Given the description of an element on the screen output the (x, y) to click on. 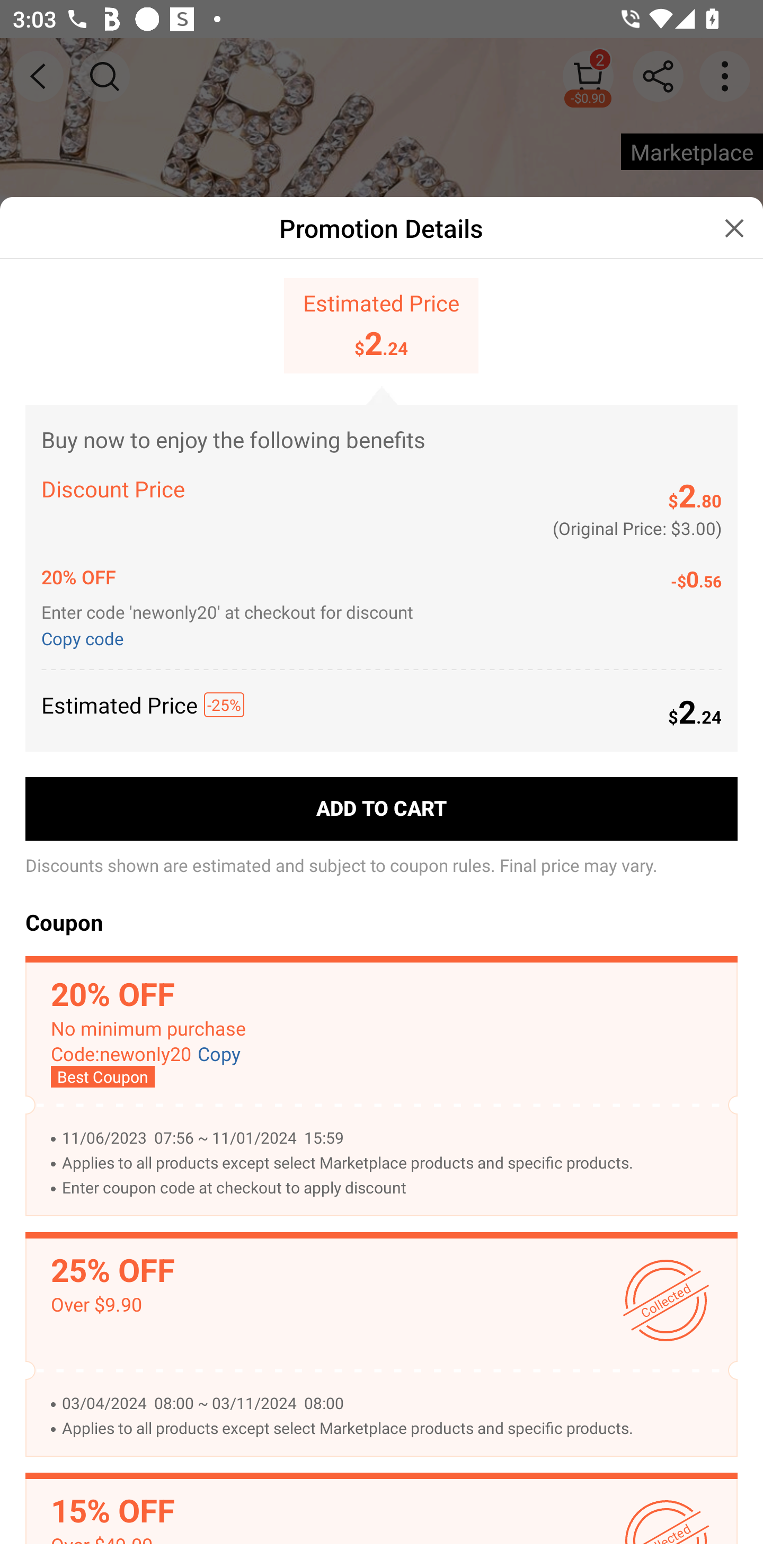
Close (734, 227)
Copy code (85, 637)
ADD TO CART (381, 808)
Copy (219, 1054)
11/06/2023  07:56 ~ 11/01/2024  15:59 (389, 1137)
Enter coupon code at checkout to apply discount (389, 1188)
03/04/2024  08:00 ~ 03/11/2024  08:00 (389, 1402)
